Given the description of an element on the screen output the (x, y) to click on. 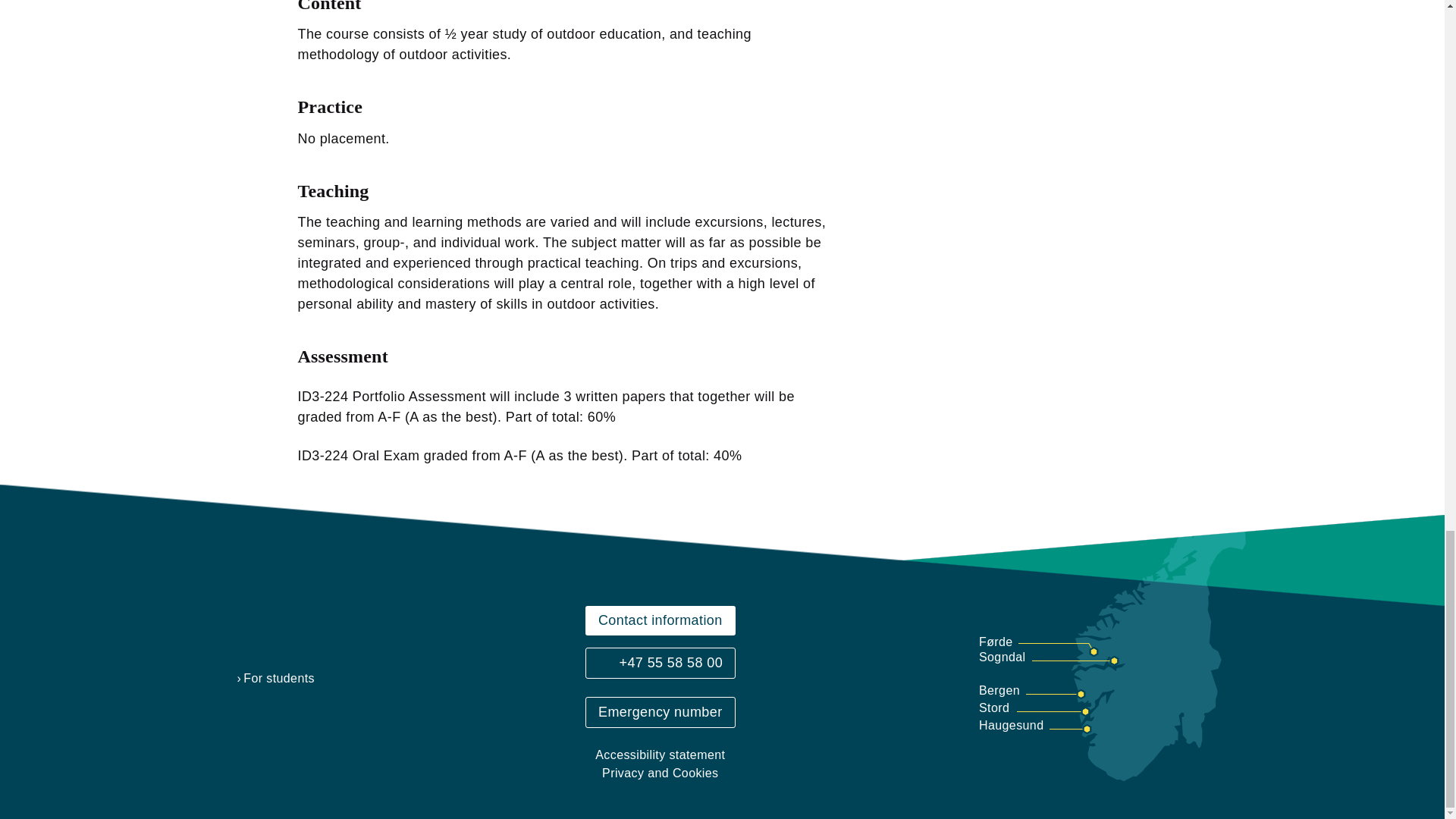
Contact information (660, 620)
Accessibility statement (660, 755)
For students (274, 678)
Privacy and Cookies (660, 773)
Emergency number (660, 712)
